Given the description of an element on the screen output the (x, y) to click on. 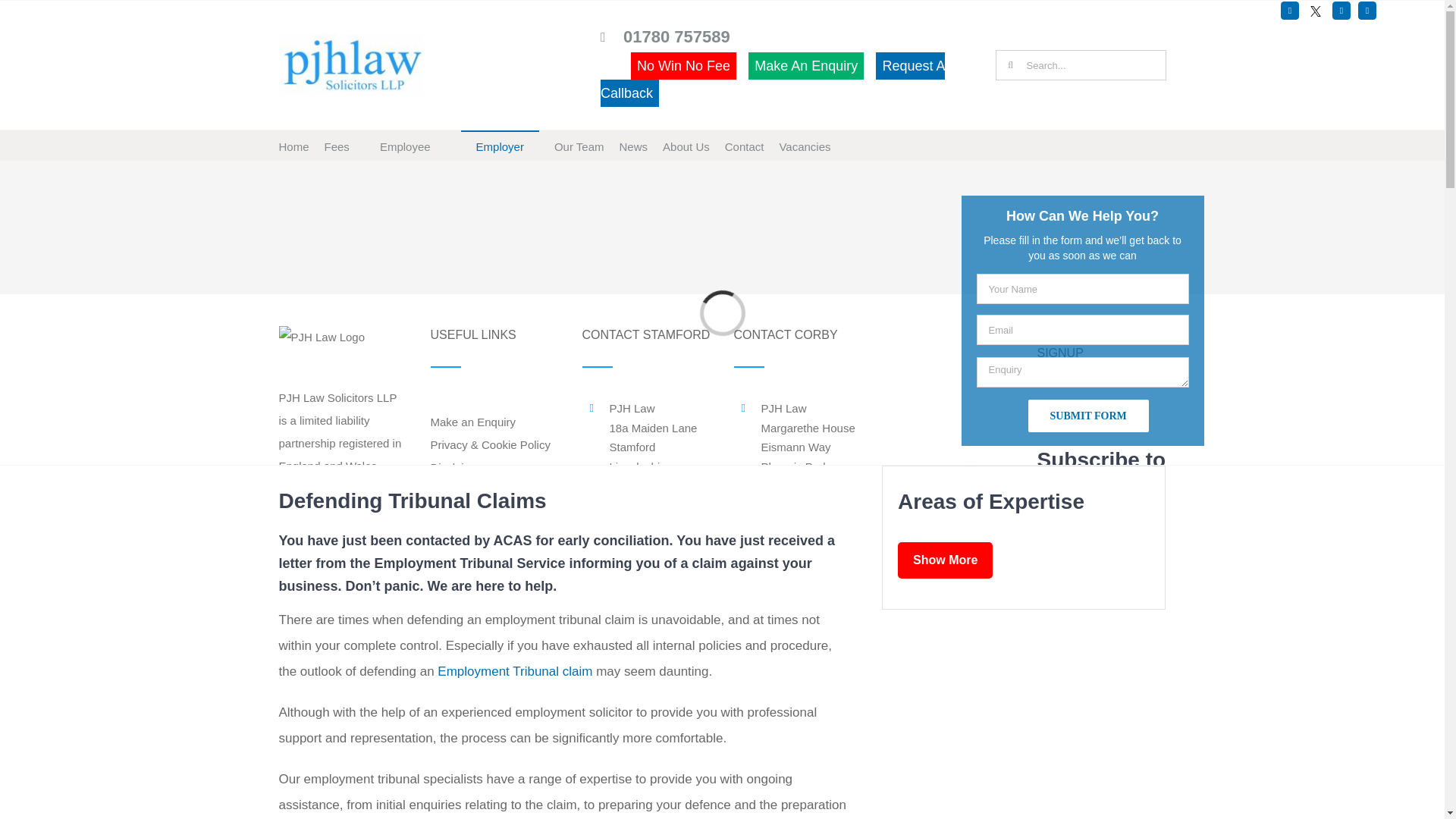
Instagram (1341, 10)
Custom (1315, 11)
77145 (1045, 707)
Facebook (1289, 10)
Custom (1315, 11)
SUBMIT FORM (1087, 415)
Home (293, 145)
Make An Enquiry (805, 65)
01780 757589 (676, 36)
Employer (499, 145)
Employee (405, 145)
LinkedIn (1366, 10)
